Given the description of an element on the screen output the (x, y) to click on. 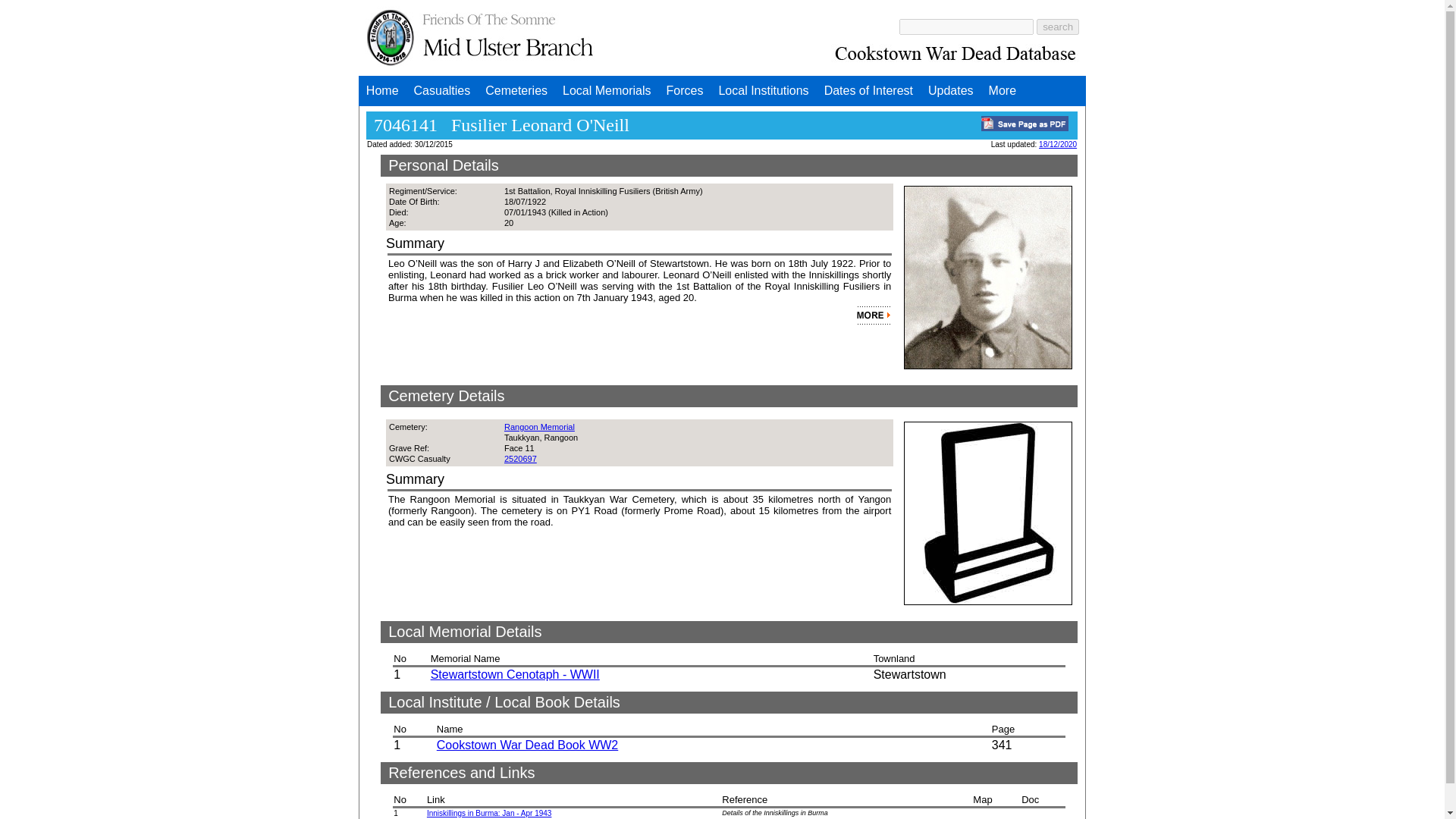
Local Memorials (606, 91)
Forces (685, 91)
Cemeteries (515, 91)
More (1002, 91)
Local Institutions (762, 91)
search (1057, 26)
Casualties (442, 91)
search (1057, 26)
